Given the description of an element on the screen output the (x, y) to click on. 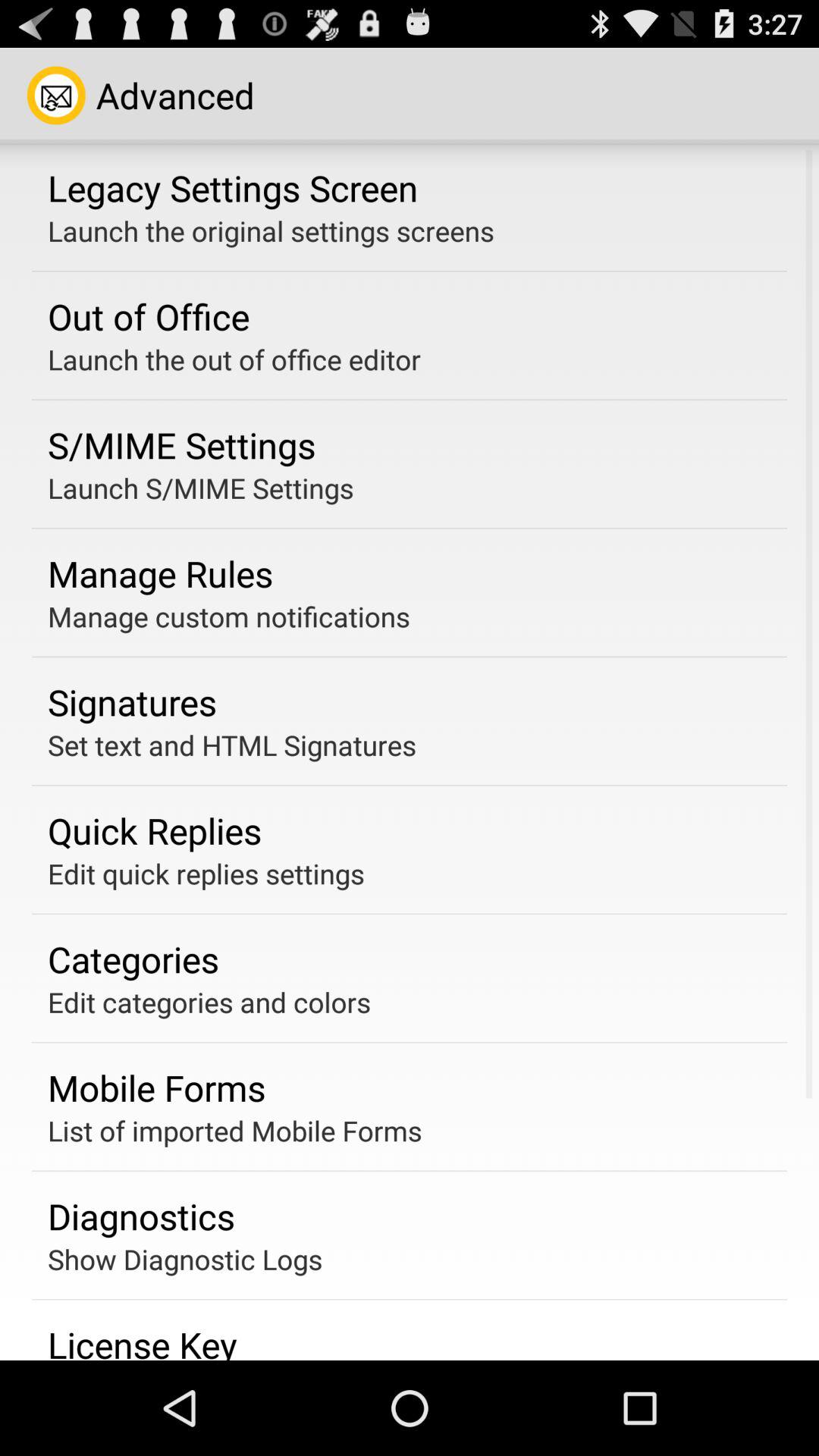
turn on icon above the show diagnostic logs icon (140, 1216)
